Given the description of an element on the screen output the (x, y) to click on. 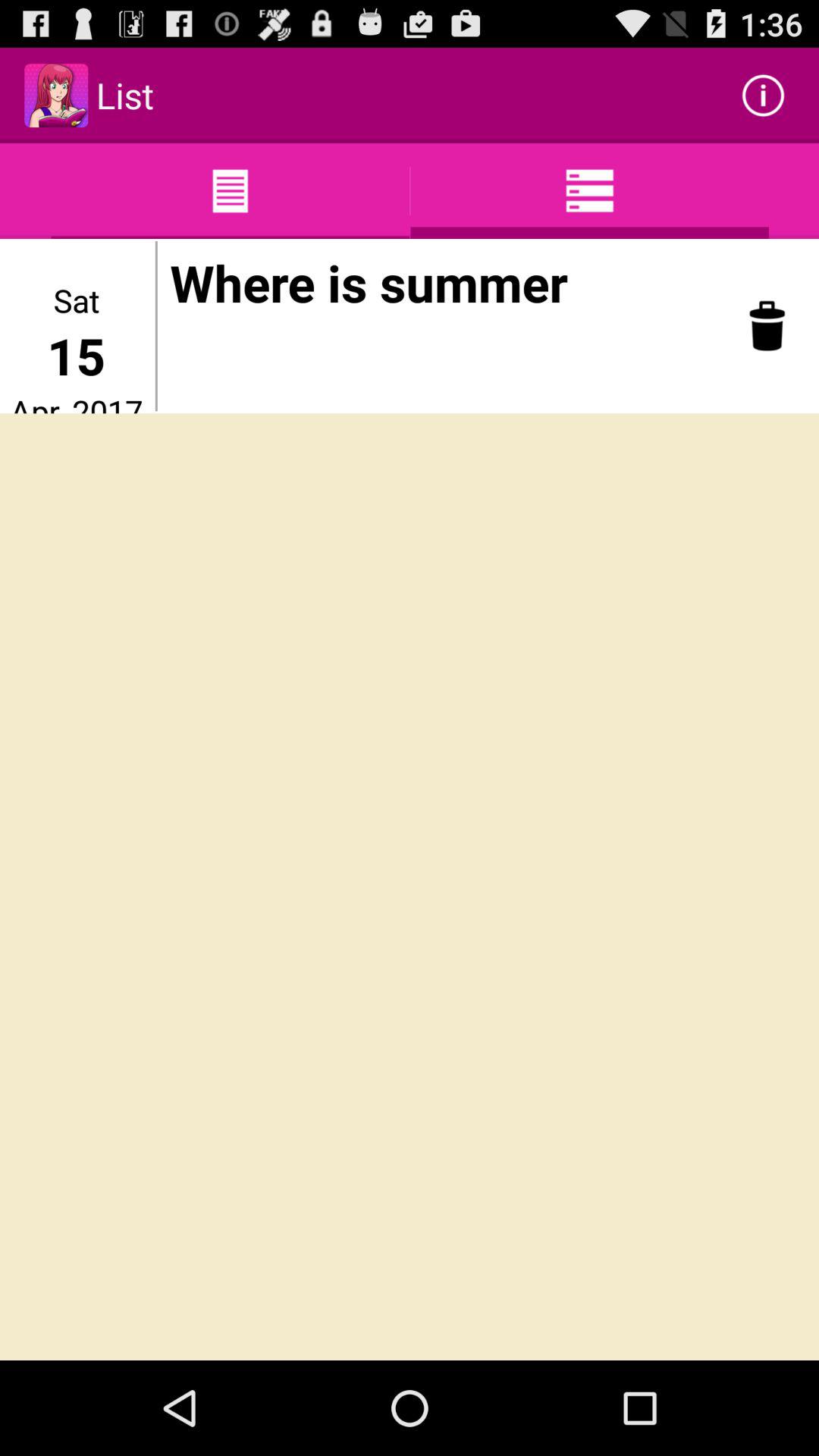
press the icon next to the where is summer icon (156, 326)
